Given the description of an element on the screen output the (x, y) to click on. 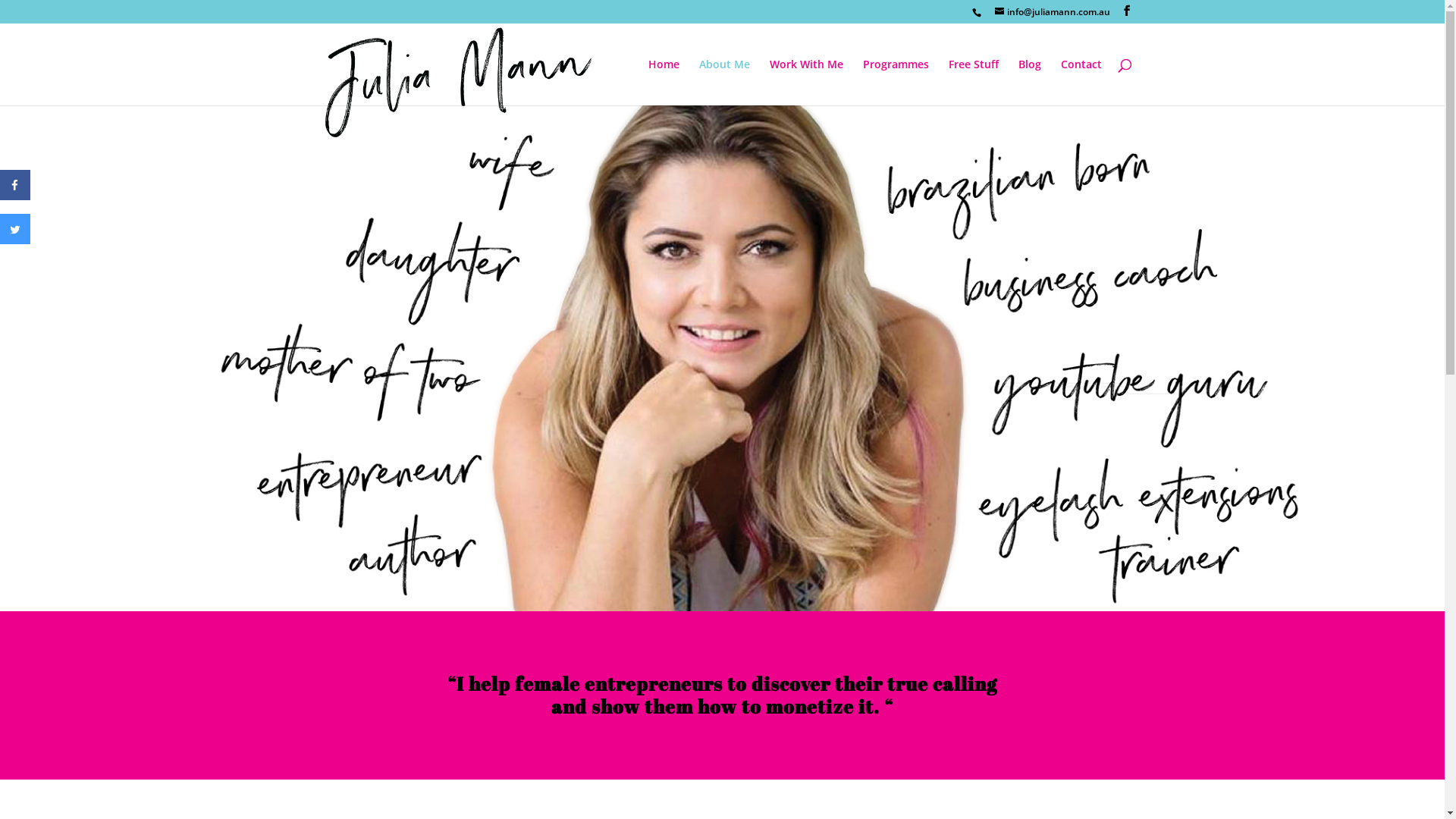
Free Stuff Element type: text (972, 82)
Programmes Element type: text (895, 82)
Work With Me Element type: text (805, 82)
Share on Twitter Element type: hover (15, 239)
Contact Element type: text (1080, 82)
Blog Element type: text (1028, 82)
Home Element type: text (662, 82)
About Me Element type: text (724, 82)
Share on Facebook Element type: hover (15, 195)
info@juliamann.com.au Element type: text (1052, 11)
